Given the description of an element on the screen output the (x, y) to click on. 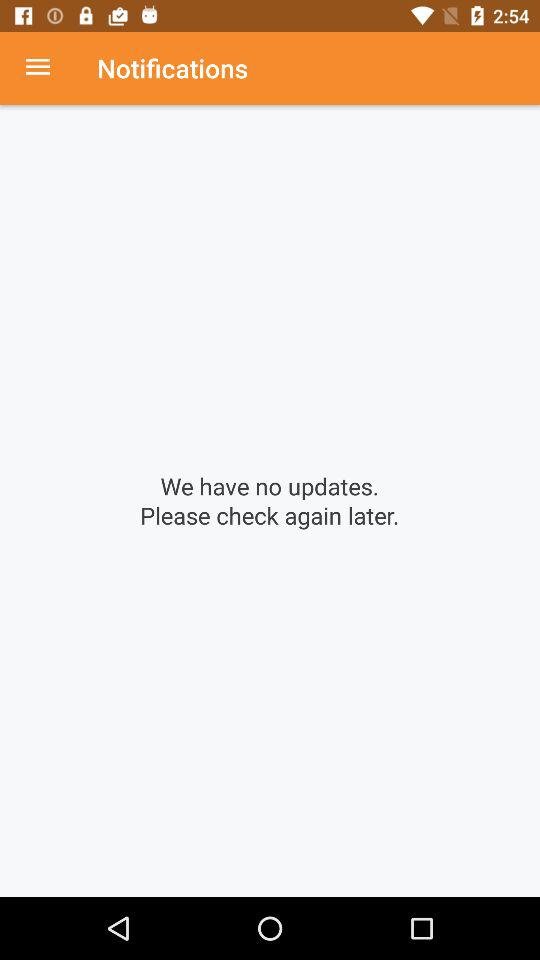
choose the icon next to the notifications icon (48, 67)
